Given the description of an element on the screen output the (x, y) to click on. 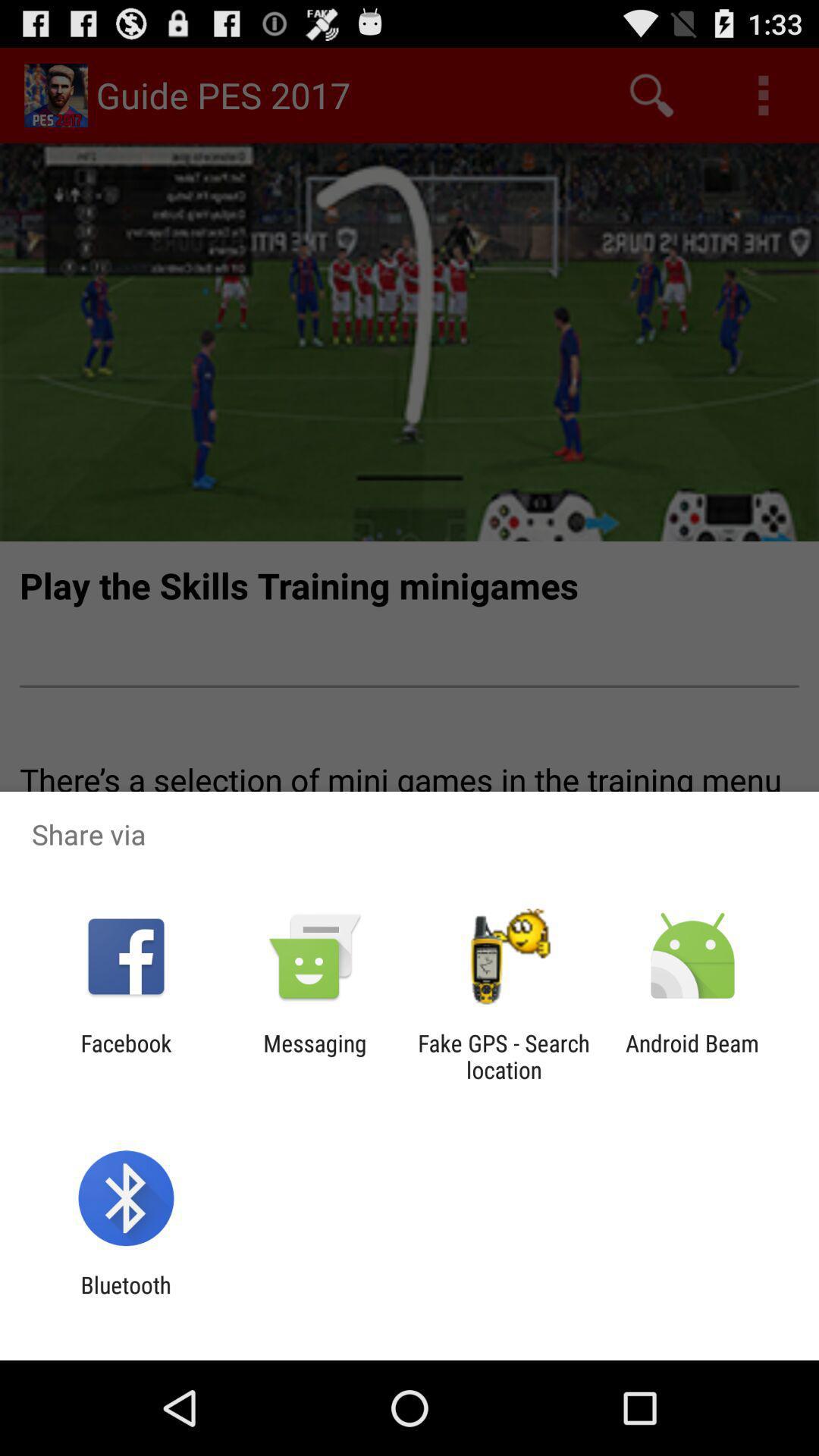
click icon to the right of the messaging item (503, 1056)
